Given the description of an element on the screen output the (x, y) to click on. 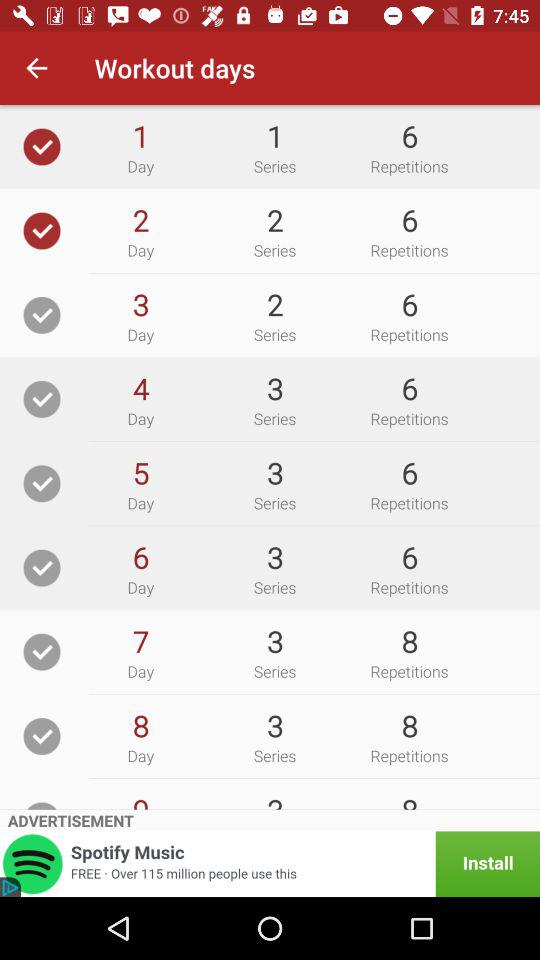
open advertisement (270, 864)
